Given the description of an element on the screen output the (x, y) to click on. 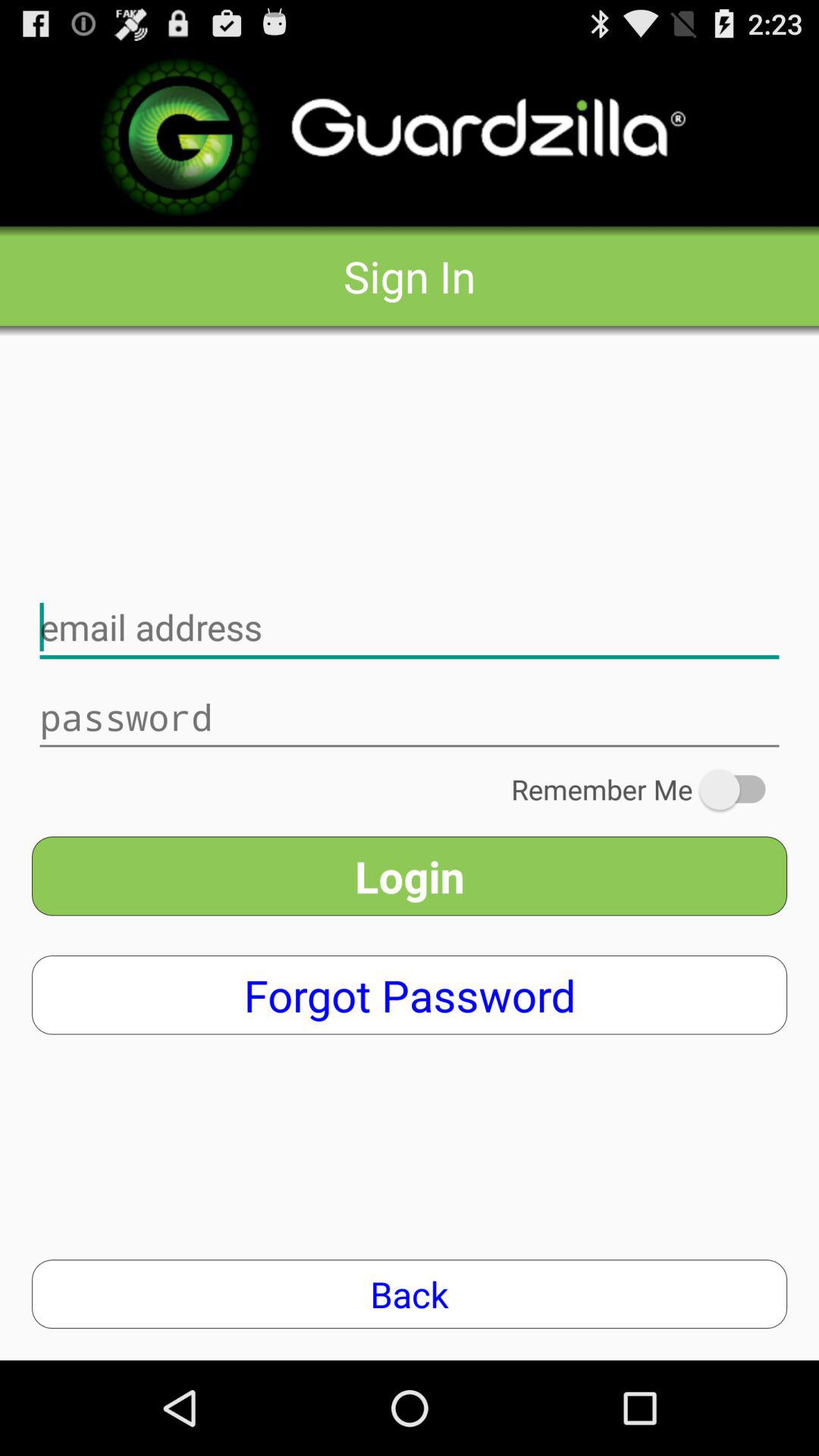
tap the item below remember me icon (409, 875)
